Given the description of an element on the screen output the (x, y) to click on. 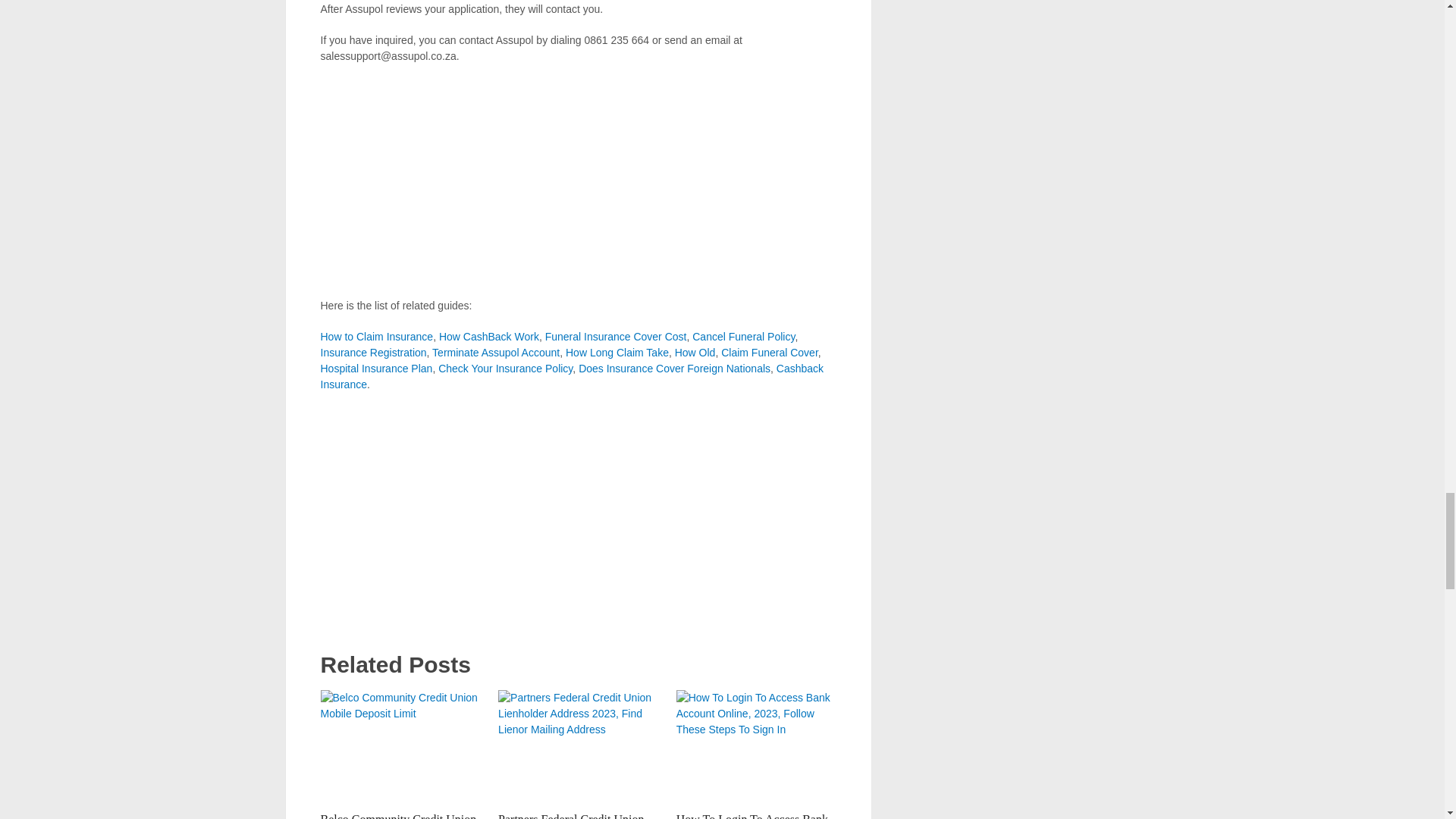
How to Claim Insurance (376, 336)
Belco Community Credit Union Mobile Deposit Limit (400, 746)
Belco Community Credit Union Mobile Deposit Limit (398, 816)
How CashBack Work (488, 336)
